Given the description of an element on the screen output the (x, y) to click on. 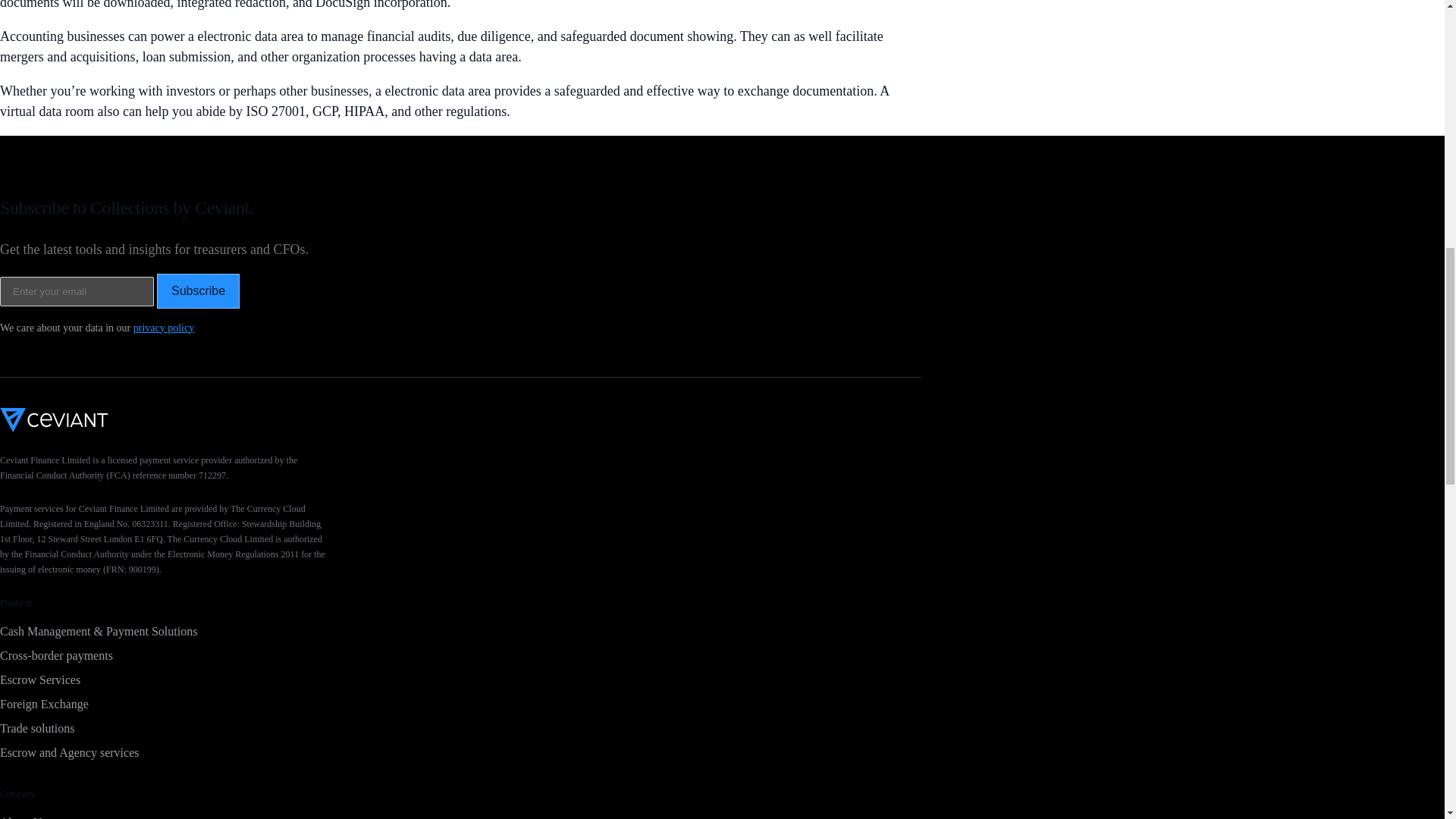
Subscribe (198, 289)
Cross-border payments (460, 656)
privacy policy (163, 326)
Foreign Exchange (460, 704)
Escrow and Agency services (460, 752)
Subscribe (198, 289)
Escrow Services (460, 679)
Trade solutions (460, 728)
